Given the description of an element on the screen output the (x, y) to click on. 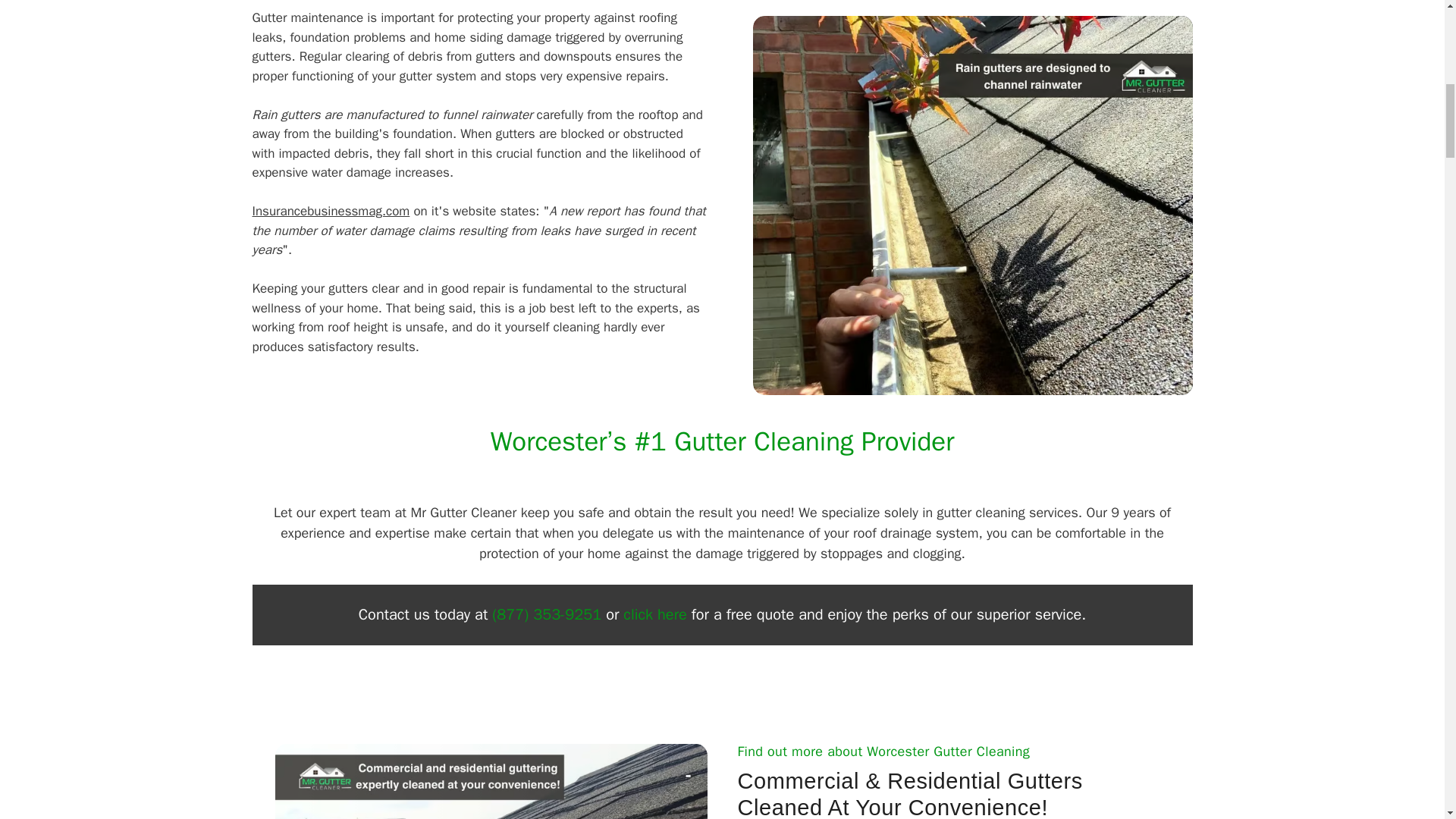
click here (654, 614)
